Given the description of an element on the screen output the (x, y) to click on. 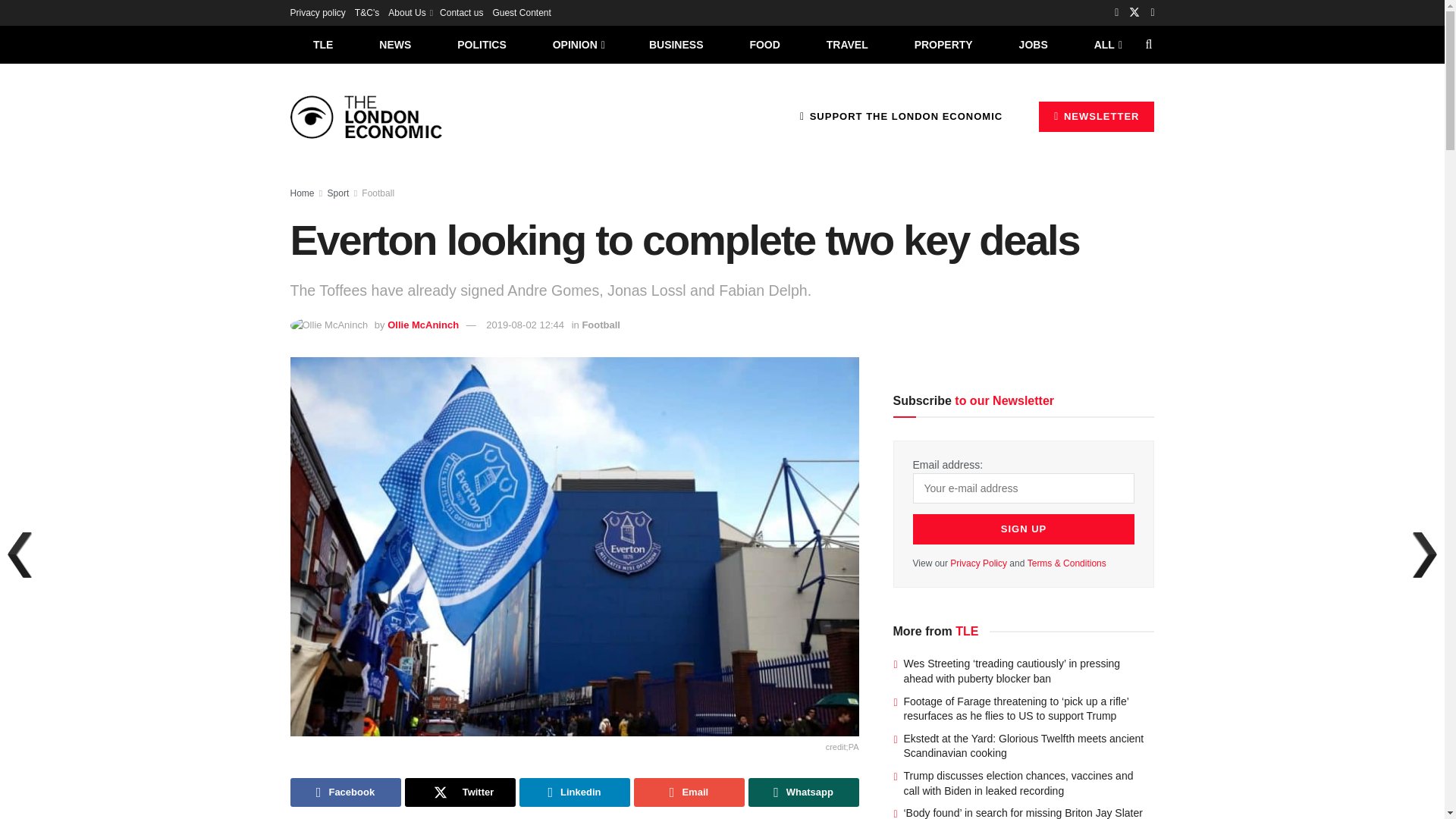
PROPERTY (943, 44)
NEWSLETTER (1096, 116)
TRAVEL (847, 44)
BUSINESS (676, 44)
TLE (322, 44)
Guest Content (521, 12)
JOBS (1032, 44)
Home (301, 193)
Sign up (1023, 529)
FOOD (764, 44)
About Us (409, 12)
OPINION (577, 44)
POLITICS (481, 44)
ALL (1106, 44)
Contact us (461, 12)
